Given the description of an element on the screen output the (x, y) to click on. 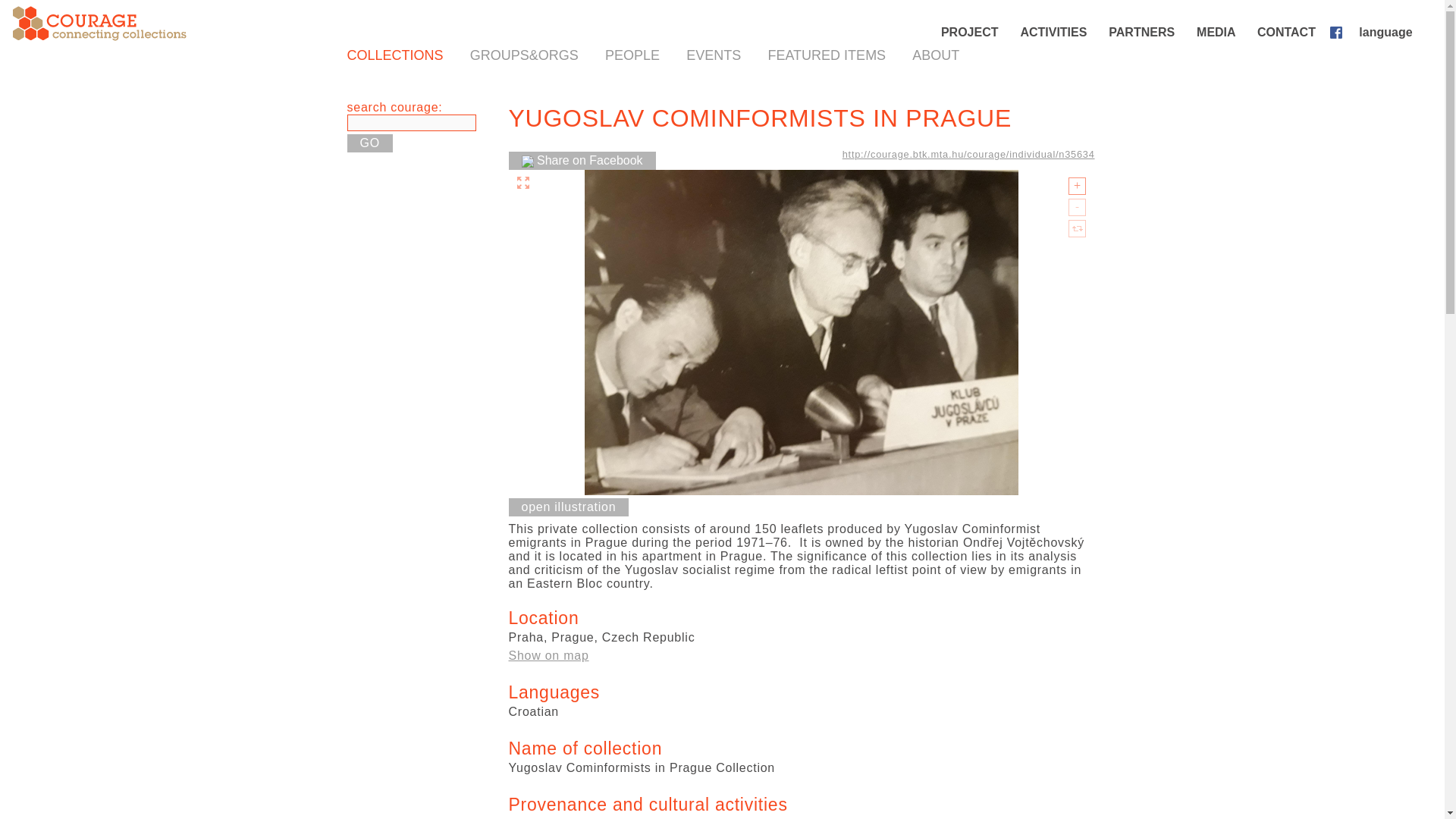
GO (370, 143)
PROJECT  (971, 32)
Facebook (1339, 32)
MEDIA  (1217, 32)
language  (1387, 32)
PARTNERS  (1142, 32)
open illustration (568, 506)
ACTIVITIES  (1054, 32)
CONTACT  (1287, 32)
